Given the description of an element on the screen output the (x, y) to click on. 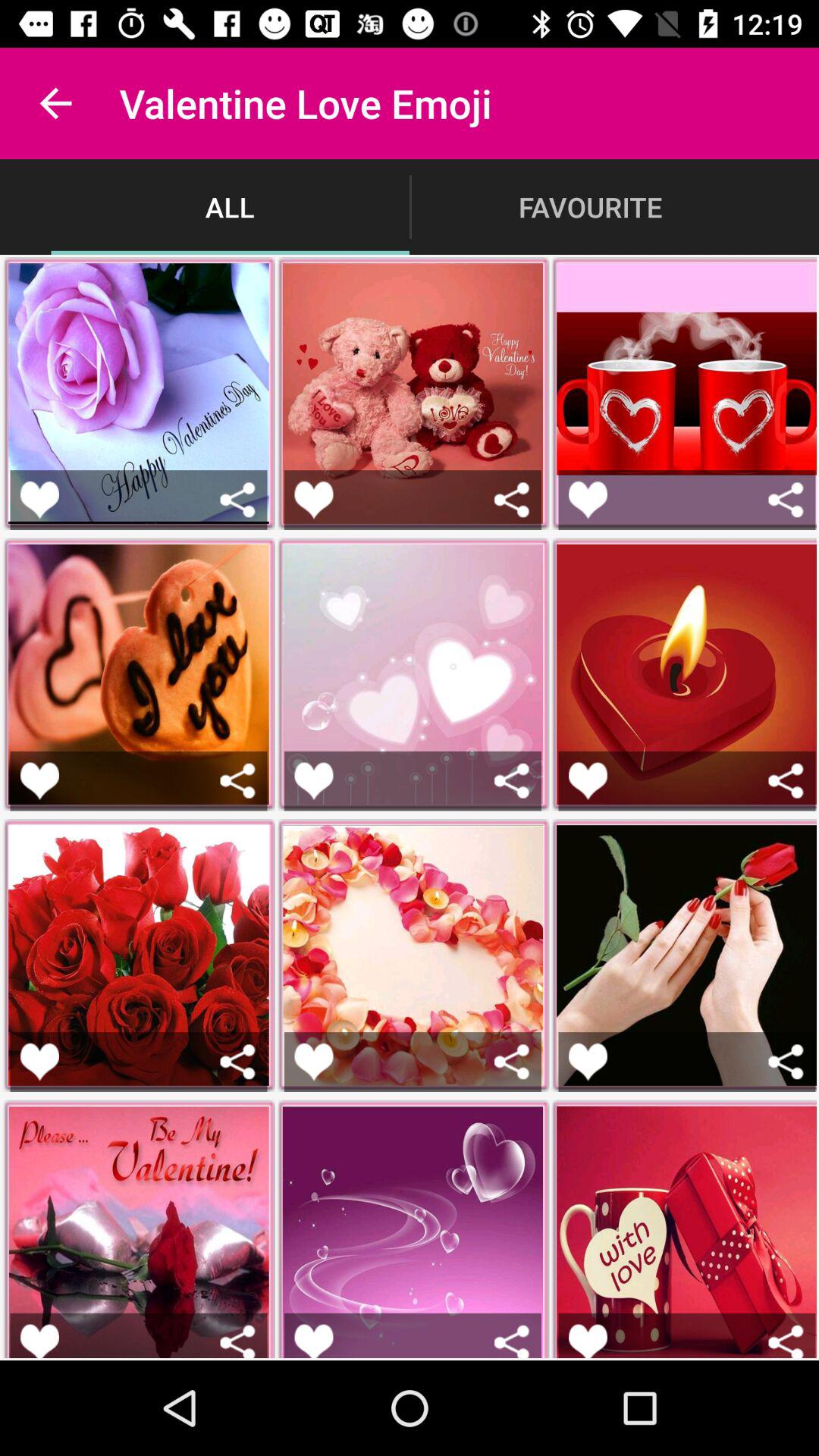
favorite (39, 499)
